Given the description of an element on the screen output the (x, y) to click on. 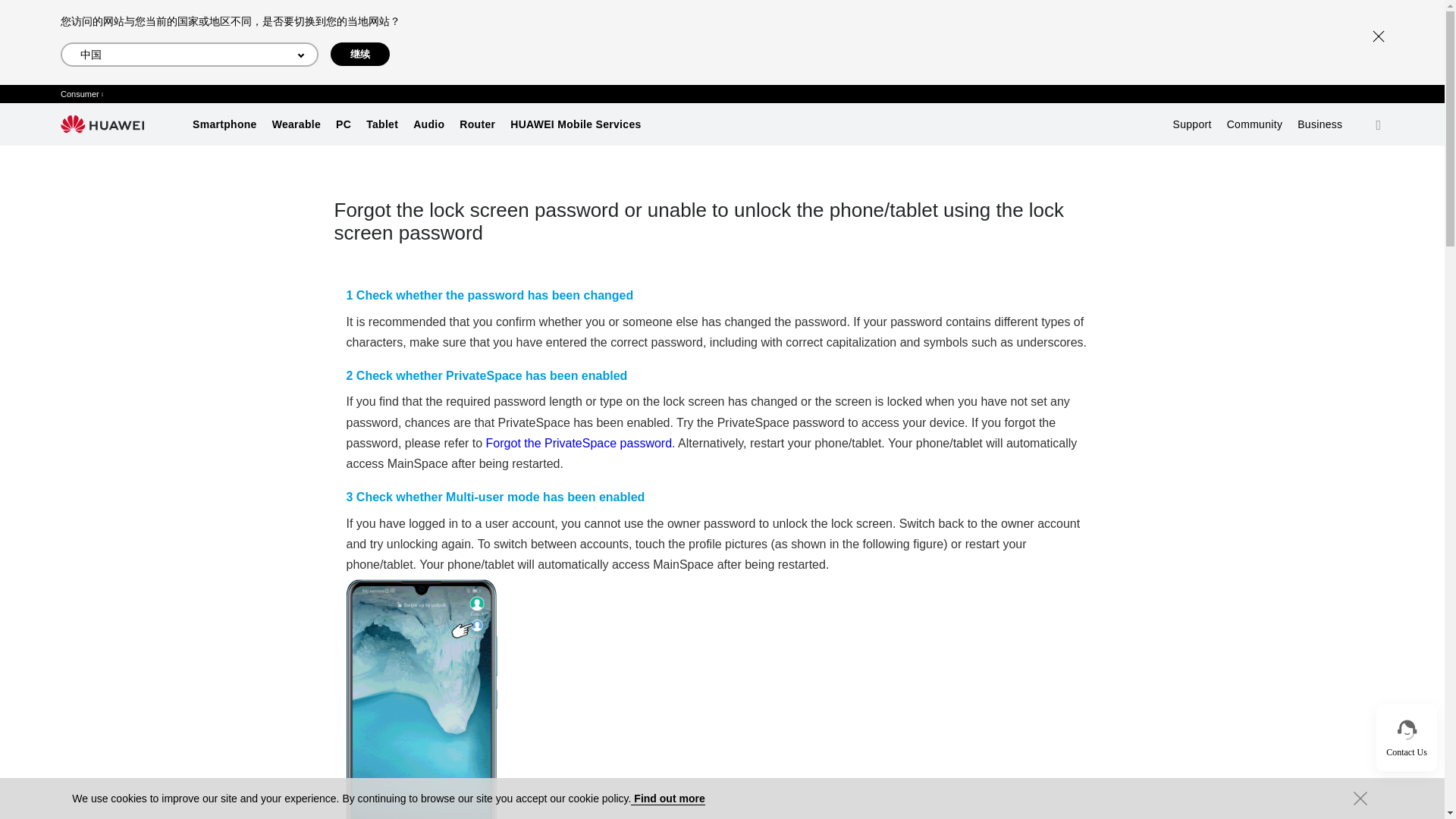
Support (1192, 124)
Support (1192, 124)
logo (102, 124)
Smartphone (224, 124)
HUAWEI Mobile Services (575, 124)
Business (1319, 124)
Community (1254, 124)
HUAWEI Mobile Services (575, 124)
Find out more (667, 798)
Wearable (296, 124)
